Given the description of an element on the screen output the (x, y) to click on. 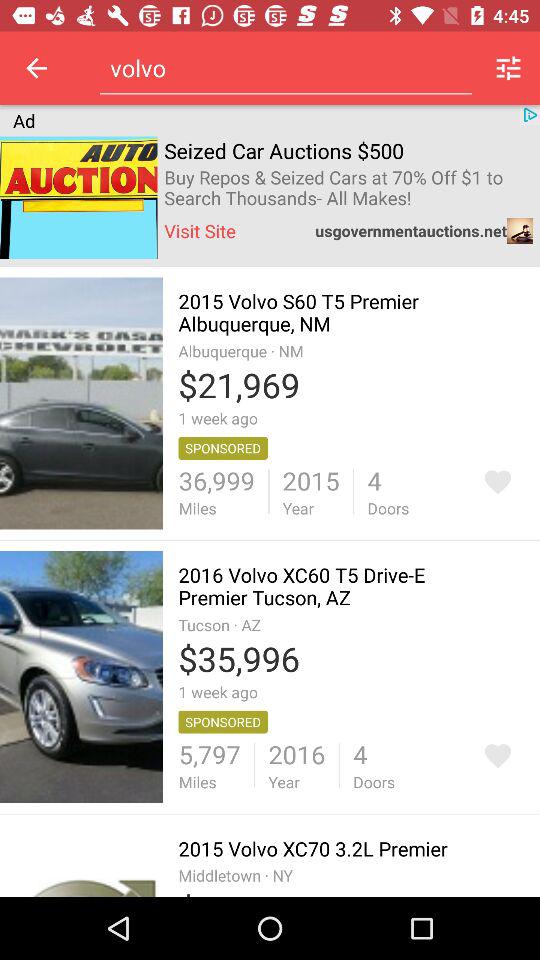
select the option 4 doors right to 2016 year (374, 765)
select the year 2016 in the second box (296, 765)
click on wish list icon in second car image (498, 755)
select the icon from top right corner below menu icon (530, 114)
click on the text which is to the right of left arrow (285, 68)
